Given the description of an element on the screen output the (x, y) to click on. 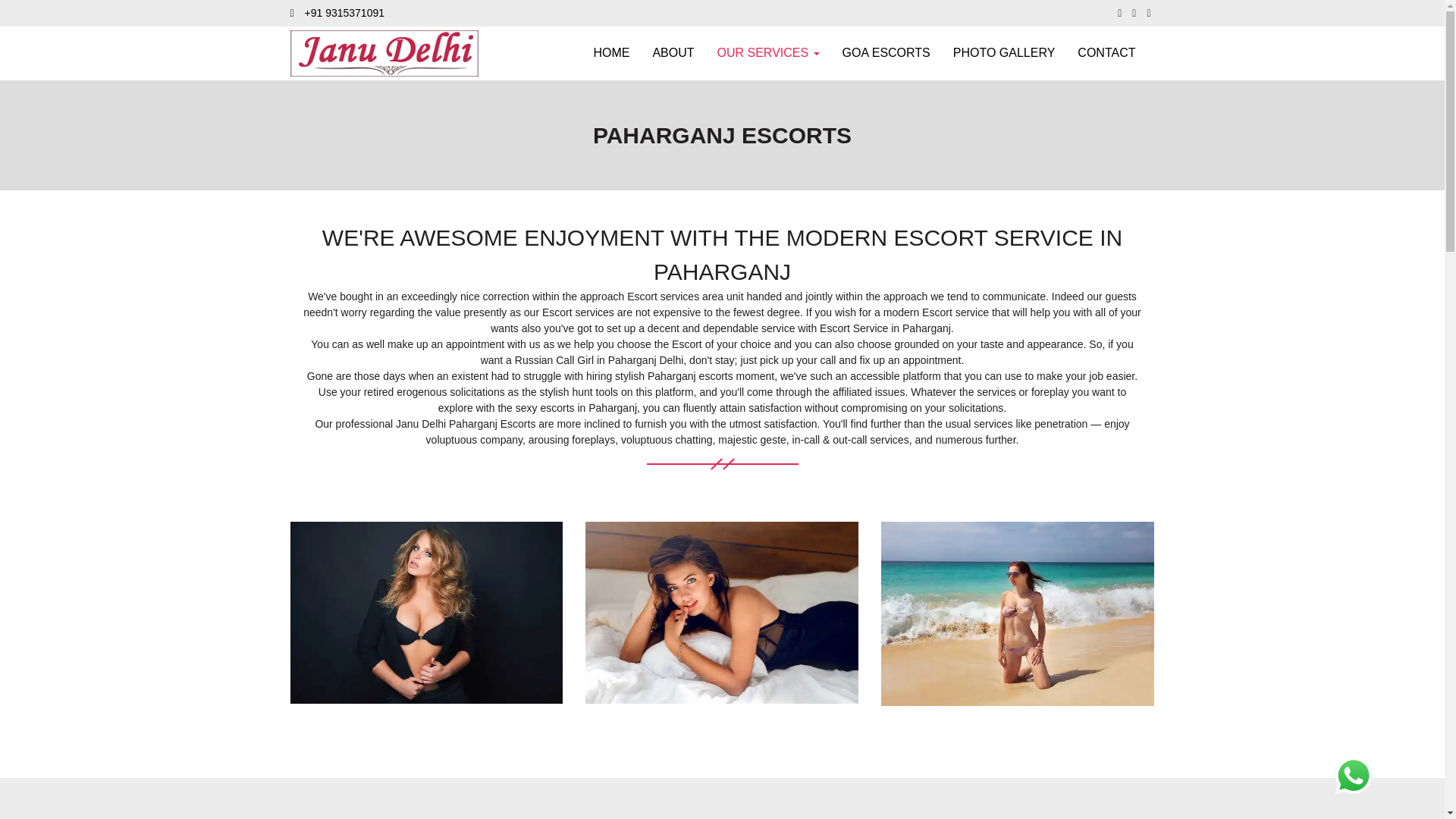
CONTACT (1106, 53)
GOA ESCORTS (886, 53)
OUR SERVICES (768, 53)
Janu Delhi (1017, 612)
Janu Delhi (1004, 53)
ABOUT (672, 53)
Janu Delhi (425, 611)
HOME (610, 53)
PHOTO GALLERY (1004, 53)
Janu Delhi (722, 611)
